Given the description of an element on the screen output the (x, y) to click on. 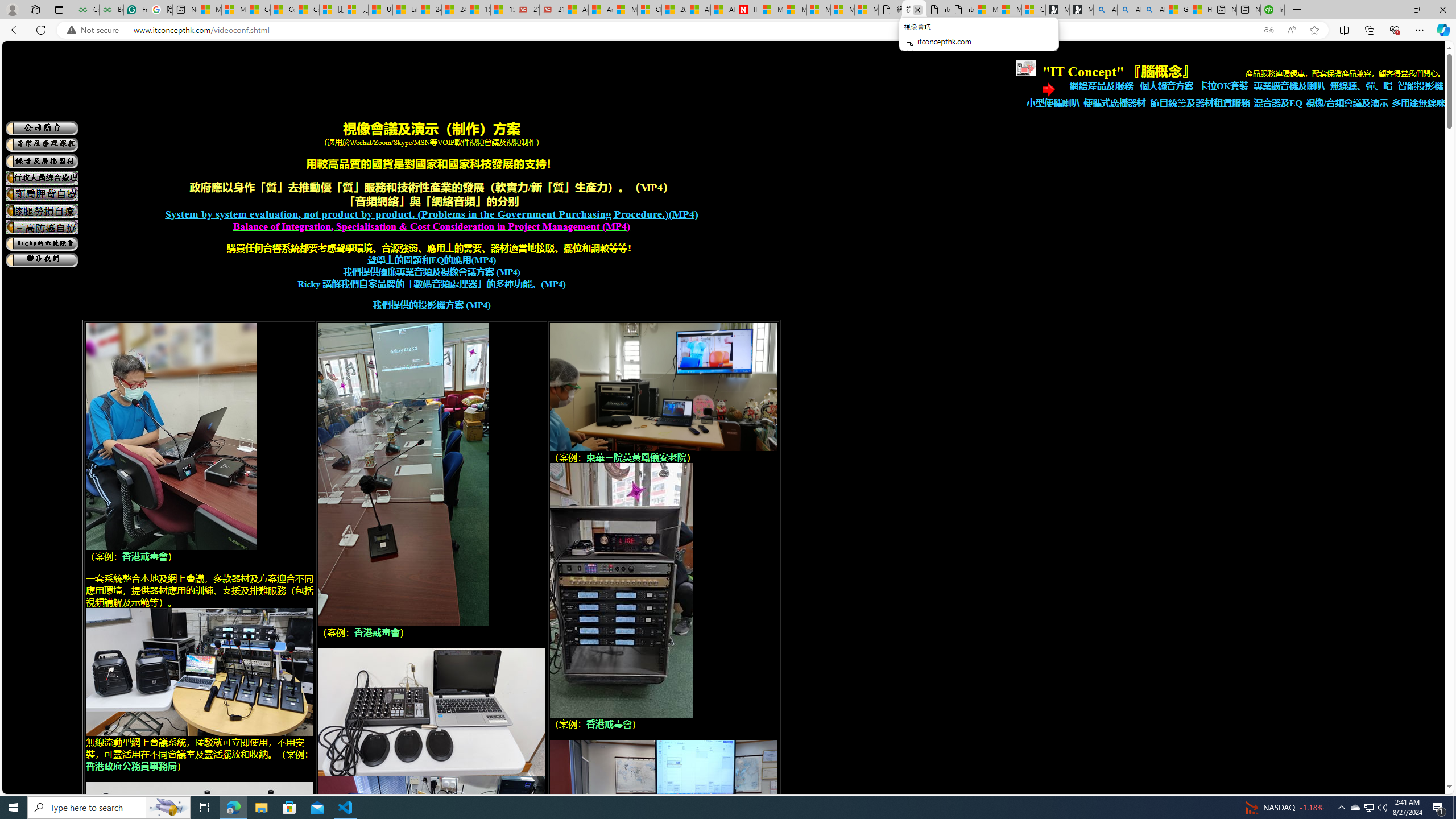
21 Movies That Outdid the Books They Were Based On (551, 9)
meeting equipment (621, 589)
Alabama high school quarterback dies - Search (1105, 9)
zoom meeting (431, 711)
Alabama high school quarterback dies - Search Videos (1152, 9)
